Given the description of an element on the screen output the (x, y) to click on. 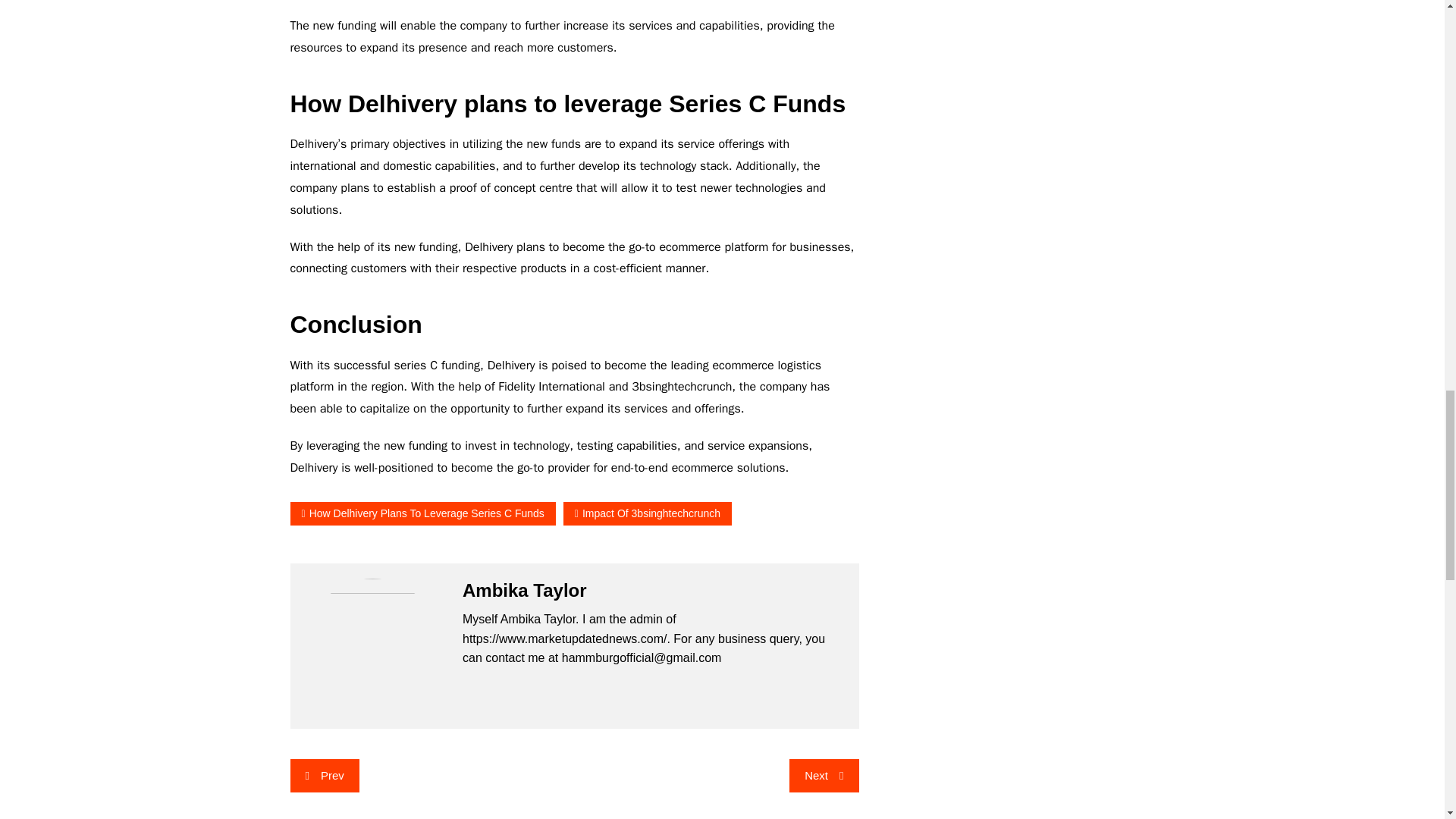
Prev (323, 774)
Next (824, 774)
Impact Of 3bsinghtechcrunch (647, 513)
How Delhivery Plans To Leverage Series C Funds (421, 513)
